Given the description of an element on the screen output the (x, y) to click on. 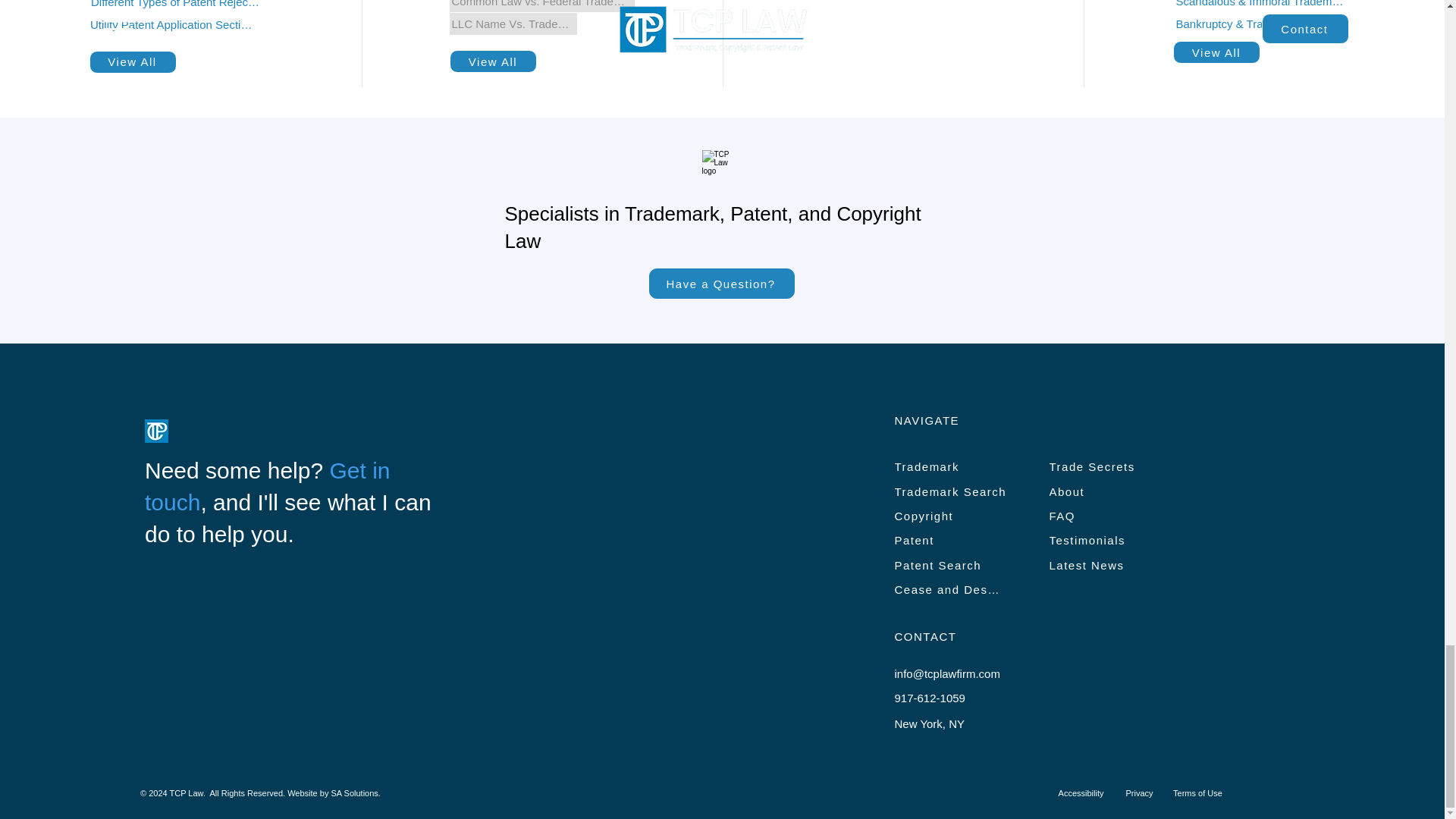
Different Types of Patent Rejections (176, 6)
Utility Patent Application Sections (172, 24)
View All (493, 60)
Common Law vs. Federal Trademarks (541, 6)
LLC Name Vs. Trademark (512, 24)
View All (132, 61)
